Given the description of an element on the screen output the (x, y) to click on. 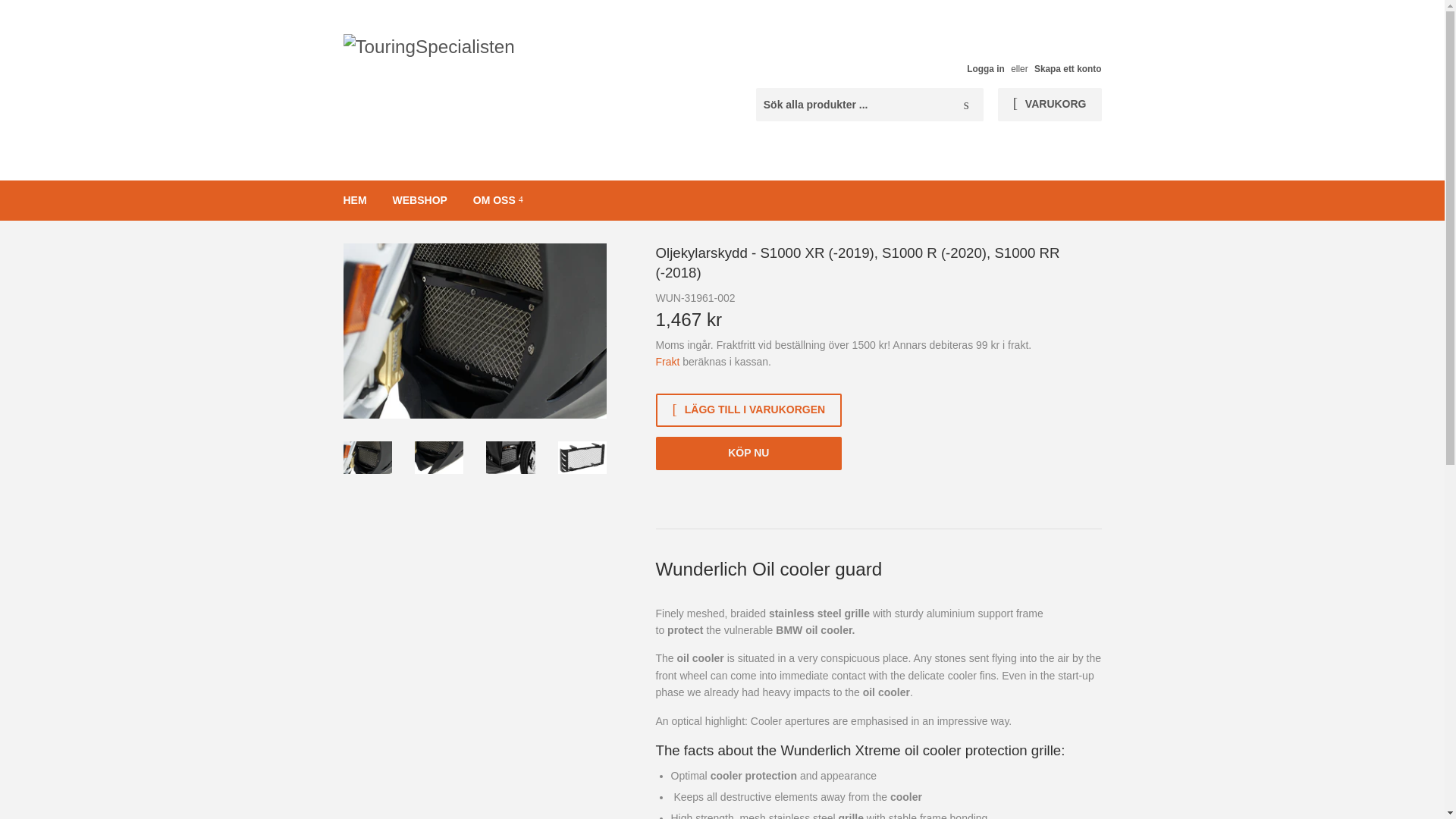
WEBSHOP (419, 200)
Skapa ett konto (1067, 68)
VARUKORG (1049, 104)
Frakt (667, 361)
HEM (354, 200)
Logga in (985, 68)
OM OSS (497, 200)
